Given the description of an element on the screen output the (x, y) to click on. 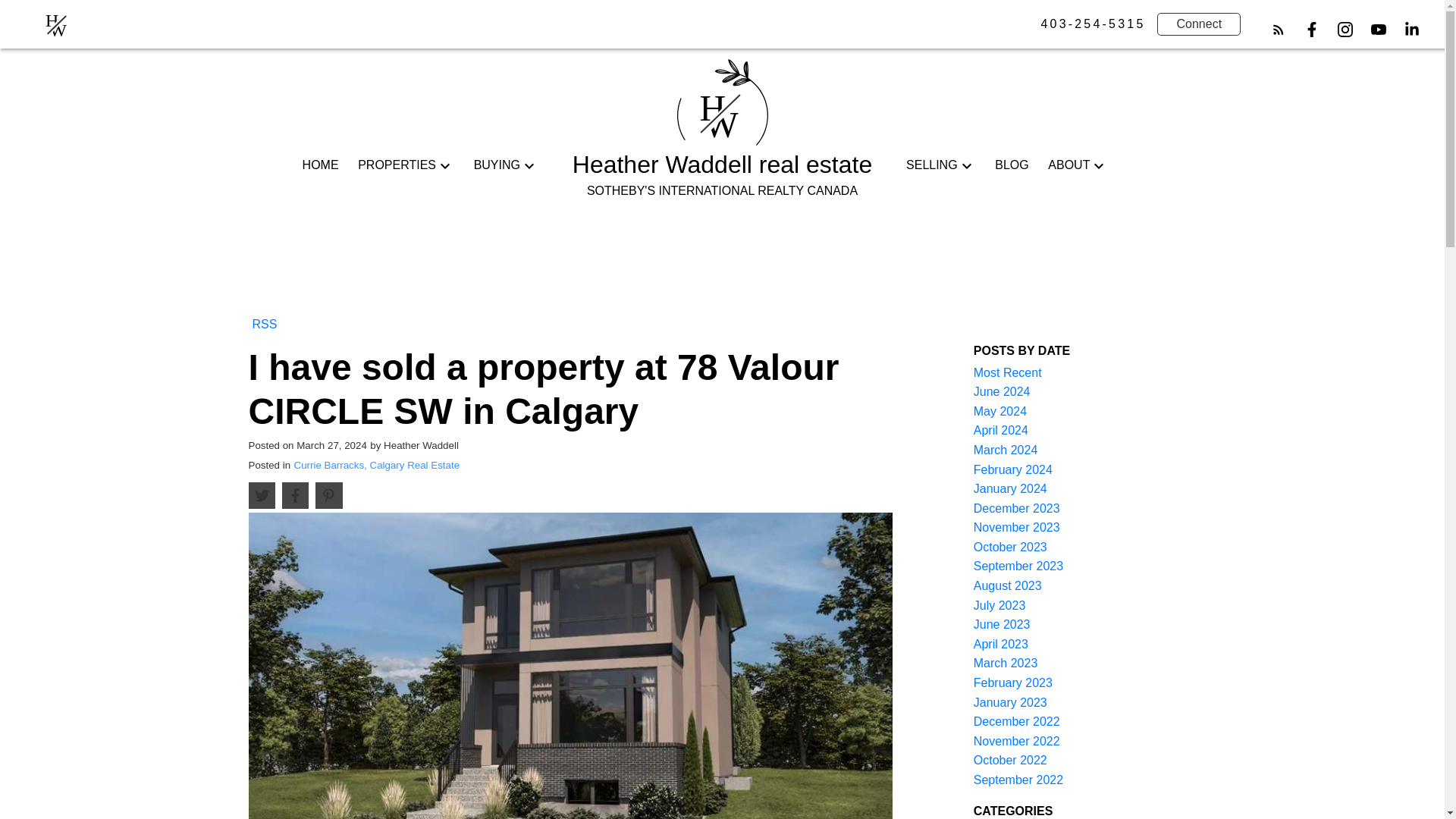
ABOUT (1068, 165)
Currie Barracks, Calgary Real Estate (377, 464)
May 2024 (1000, 410)
February 2024 (1013, 469)
March 2024 (1006, 449)
Connect (1198, 24)
April 2024 (1000, 430)
HOME (320, 165)
June 2024 (1002, 391)
BLOG (1010, 165)
RSS (264, 323)
BUYING (496, 165)
SELLING (931, 165)
January 2024 (1010, 488)
PROPERTIES (396, 165)
